Given the description of an element on the screen output the (x, y) to click on. 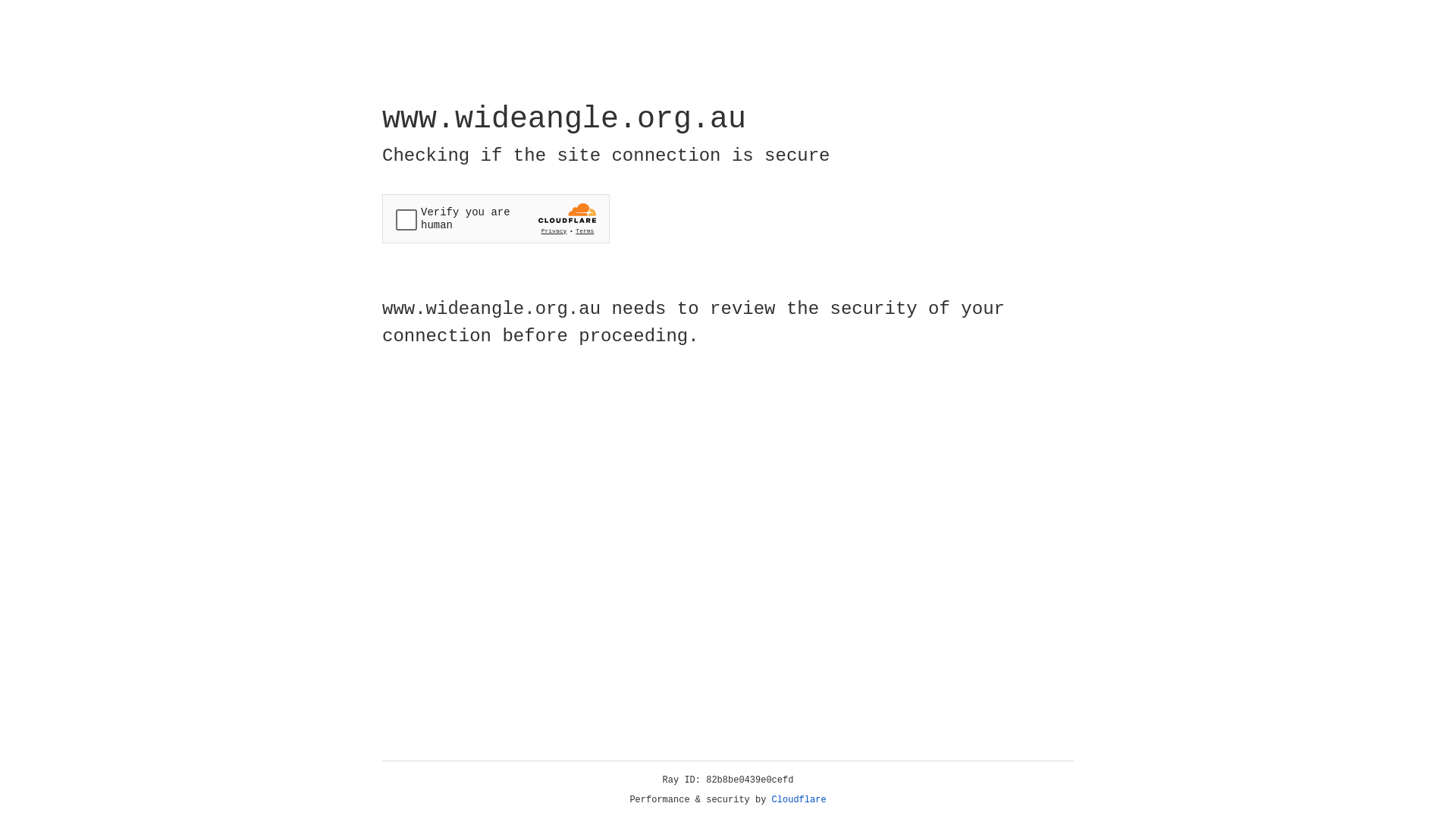
Cloudflare Element type: text (798, 799)
Widget containing a Cloudflare security challenge Element type: hover (495, 218)
